Given the description of an element on the screen output the (x, y) to click on. 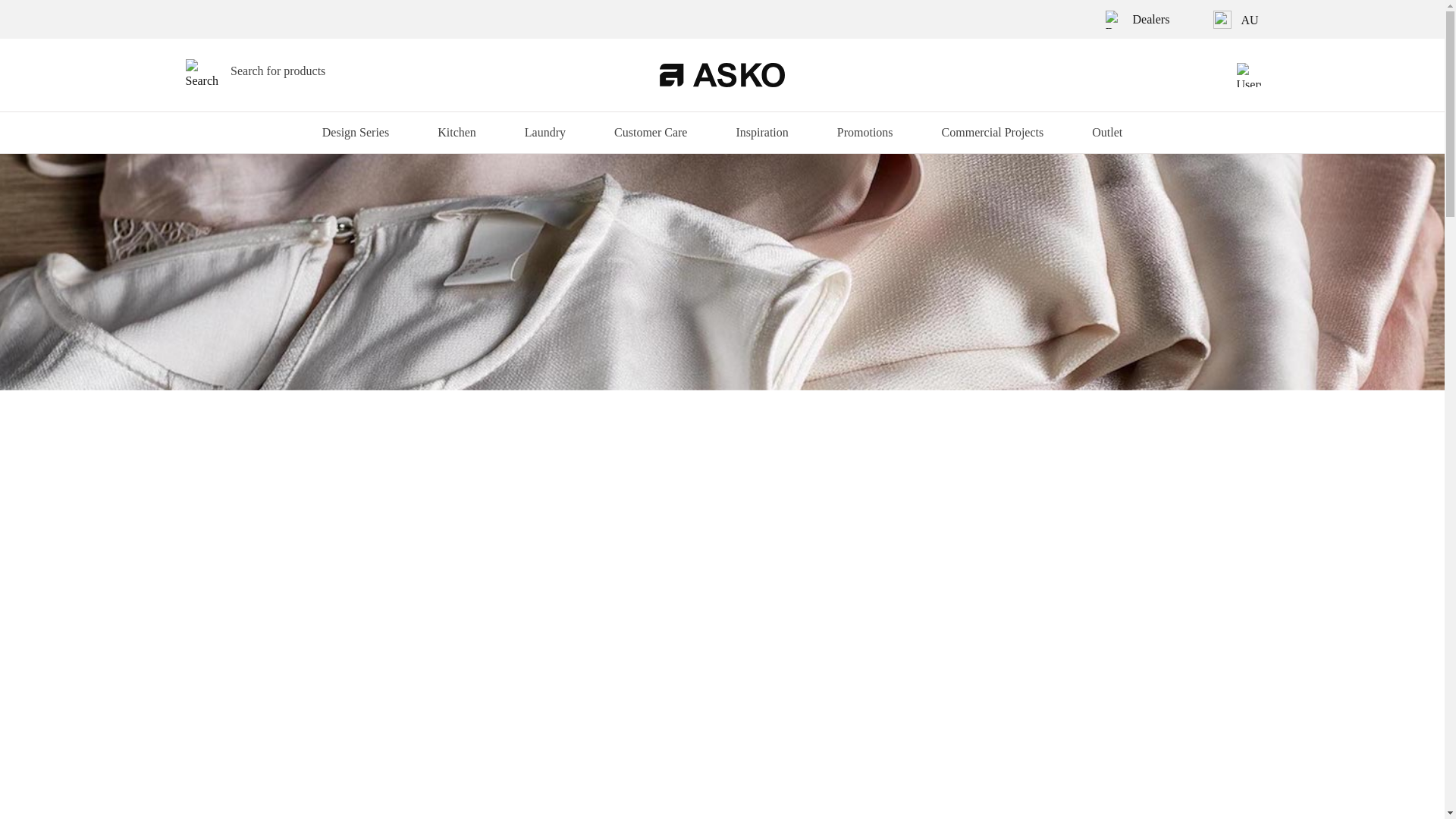
Dealers (1137, 19)
Kitchen (457, 132)
